Given the description of an element on the screen output the (x, y) to click on. 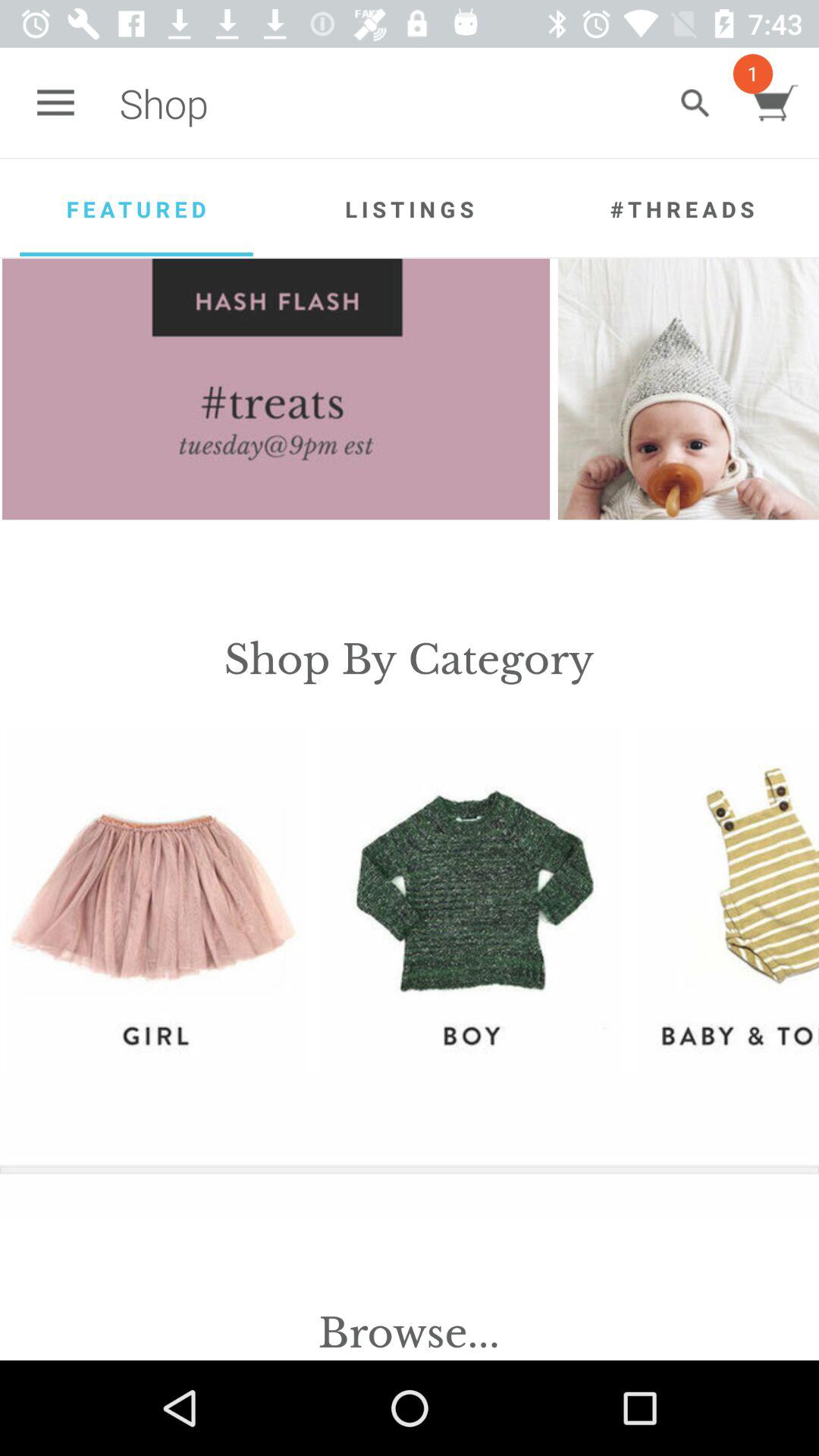
press the item above the featured (55, 103)
